Given the description of an element on the screen output the (x, y) to click on. 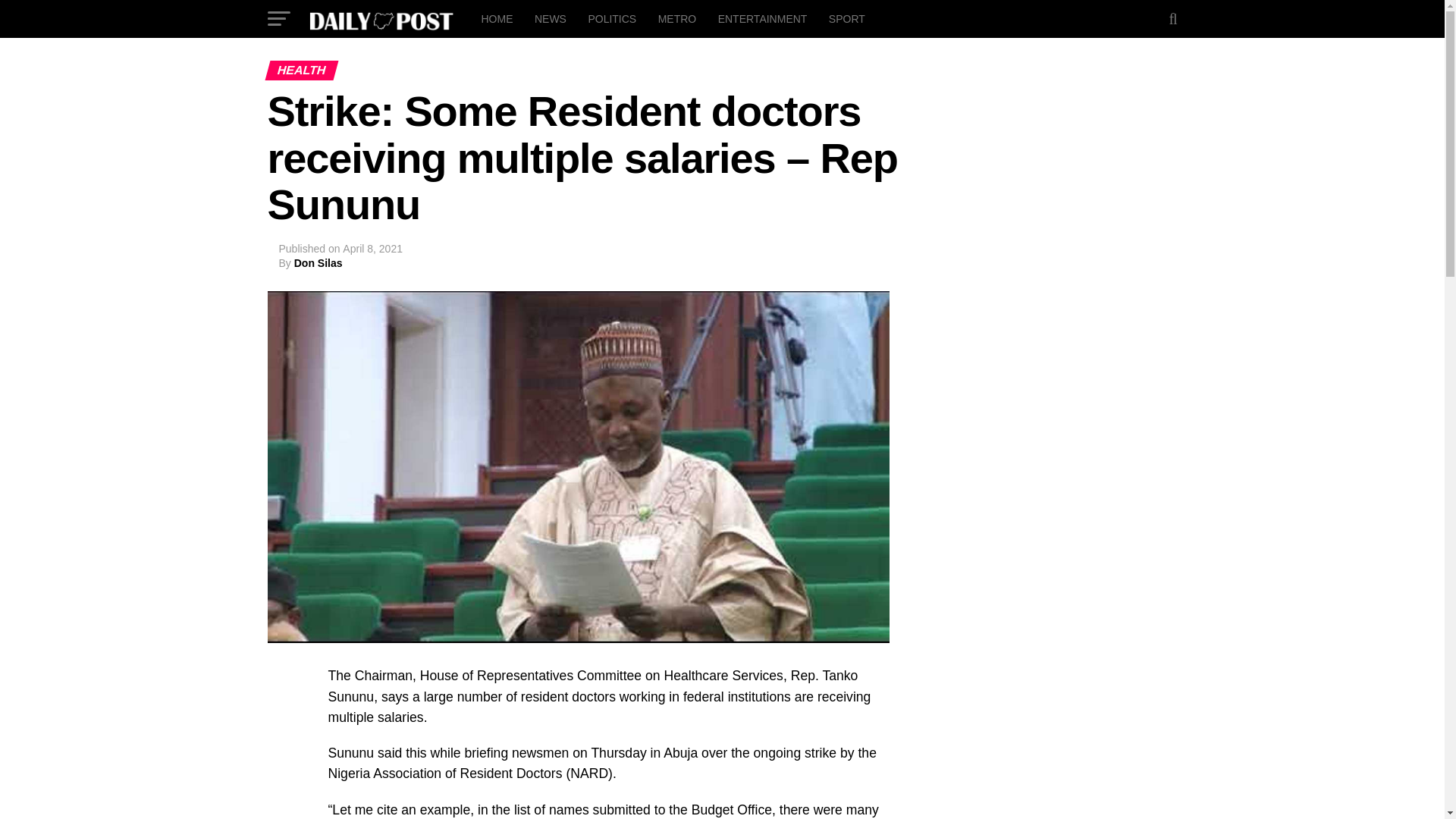
Posts by Don Silas (318, 263)
METRO (677, 18)
HOME (496, 18)
ENTERTAINMENT (762, 18)
POLITICS (611, 18)
SPORT (847, 18)
NEWS (550, 18)
Don Silas (318, 263)
